Given the description of an element on the screen output the (x, y) to click on. 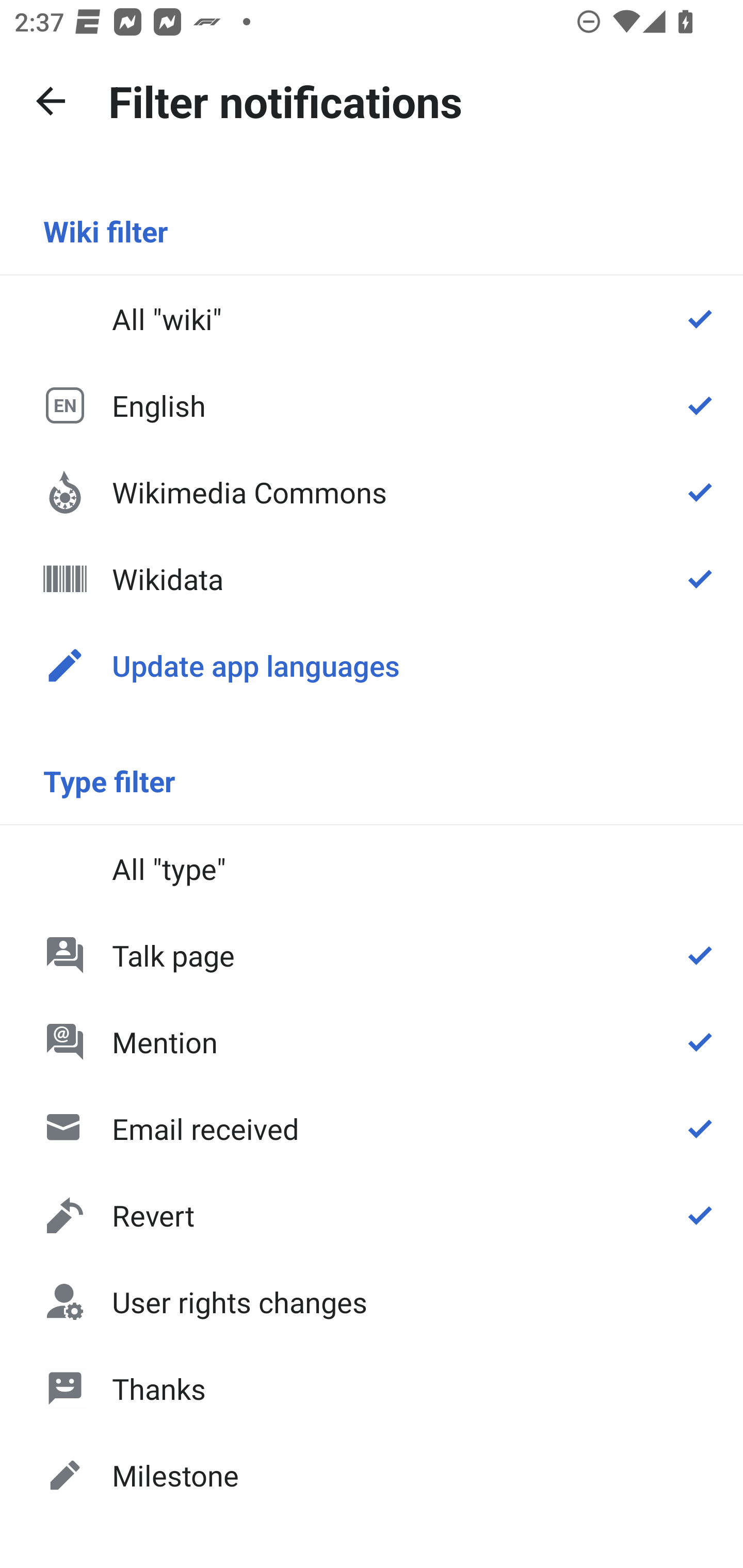
Navigate up (50, 101)
All "wiki" (371, 318)
EN English (371, 405)
Wikimedia Commons (371, 491)
Wikidata (371, 578)
Update app languages (371, 665)
All "type" (371, 868)
Talk page (371, 955)
Mention (371, 1041)
Email received (371, 1128)
Revert (371, 1215)
User rights changes (371, 1302)
Thanks (371, 1388)
Milestone (371, 1474)
